Given the description of an element on the screen output the (x, y) to click on. 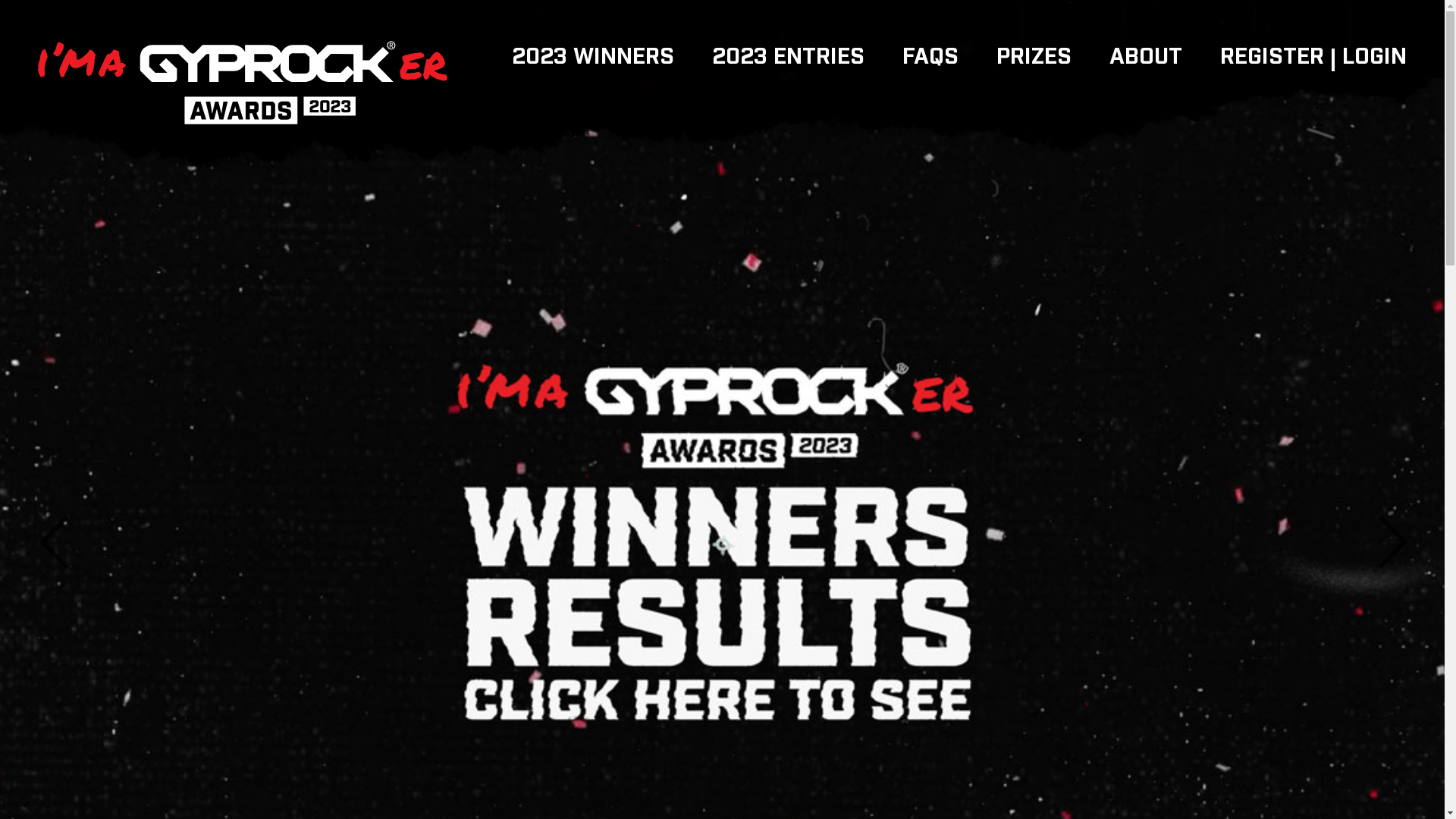
ABOUT Element type: text (1145, 56)
LOGIN Element type: text (1374, 56)
FAQS Element type: text (930, 56)
2023 ENTRIES Element type: text (788, 56)
2023 WINNERS Element type: text (592, 56)
PRIZES Element type: text (1033, 56)
REGISTER Element type: text (1272, 56)
